Given the description of an element on the screen output the (x, y) to click on. 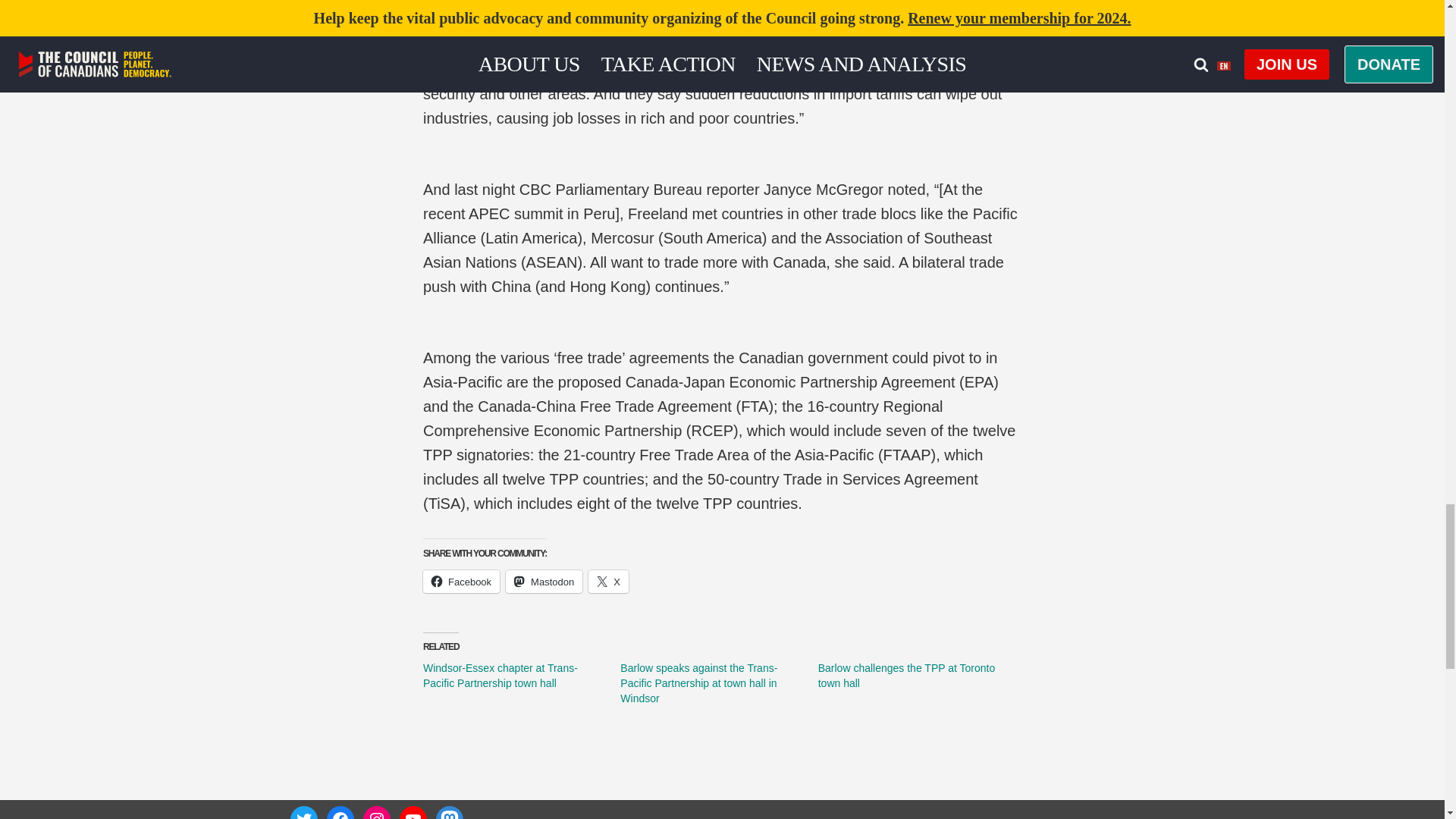
Barlow challenges the TPP at Toronto town hall (906, 675)
X (608, 581)
Mastodon (543, 581)
Facebook (461, 581)
Click to share on Mastodon (543, 581)
Barlow challenges the TPP at Toronto town hall (906, 675)
Click to share on Facebook (461, 581)
Click to share on X (608, 581)
Windsor-Essex chapter at Trans-Pacific Partnership town hall (500, 675)
Windsor-Essex chapter at Trans-Pacific Partnership town hall (500, 675)
